Given the description of an element on the screen output the (x, y) to click on. 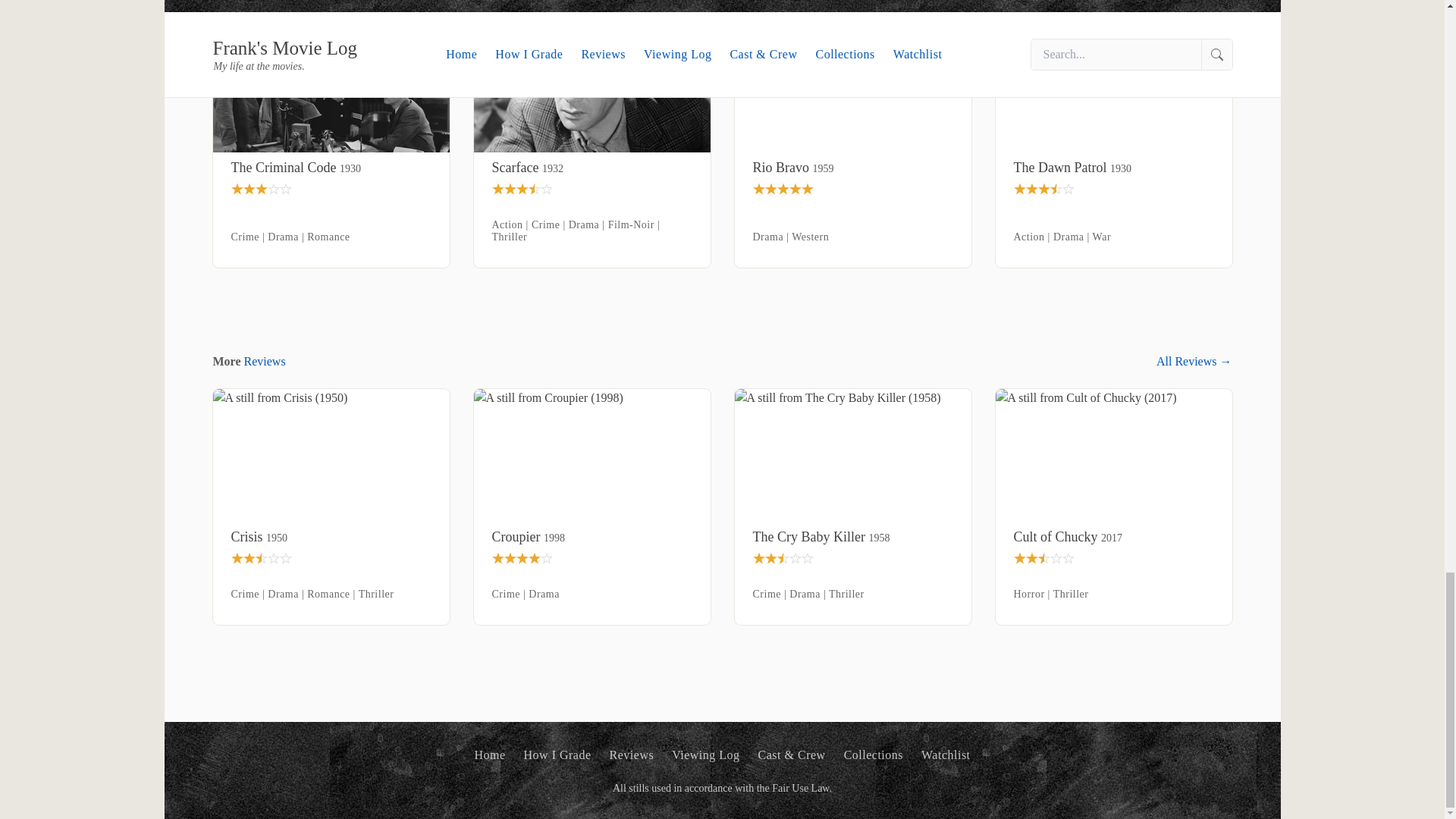
Crisis 1950 (330, 536)
Croupier 1998 (591, 536)
Viewing Log (705, 754)
Rio Bravo 1959 (852, 167)
The Criminal Code 1930 (330, 167)
Cult of Chucky 2017 (1112, 536)
Collections (873, 754)
The Cry Baby Killer 1958 (852, 536)
Reviews (264, 360)
The Dawn Patrol 1930 (1112, 167)
Watchlist (946, 754)
Reviews (631, 754)
How I Grade (557, 754)
Home (489, 754)
Scarface 1932 (591, 167)
